Given the description of an element on the screen output the (x, y) to click on. 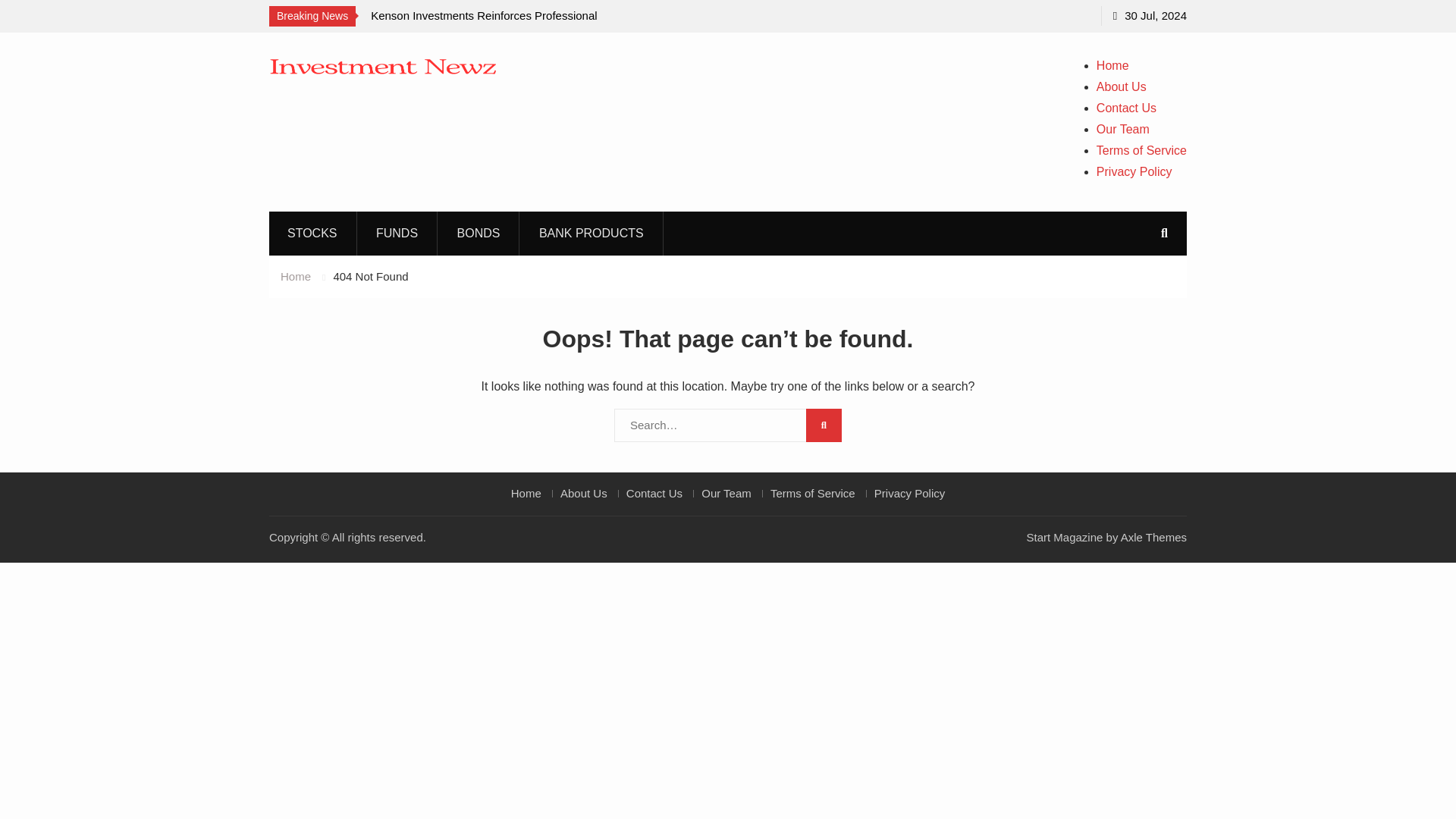
Privacy Policy (1134, 171)
Terms of Service (812, 493)
Home (525, 493)
About Us (582, 493)
About Us (1121, 86)
Privacy Policy (909, 493)
STOCKS (311, 232)
Our Team (1123, 128)
Terms of Service (1141, 150)
Home (296, 276)
Contact Us (653, 493)
Home (1112, 65)
Axle Themes (1153, 536)
BANK PRODUCTS (591, 232)
